Given the description of an element on the screen output the (x, y) to click on. 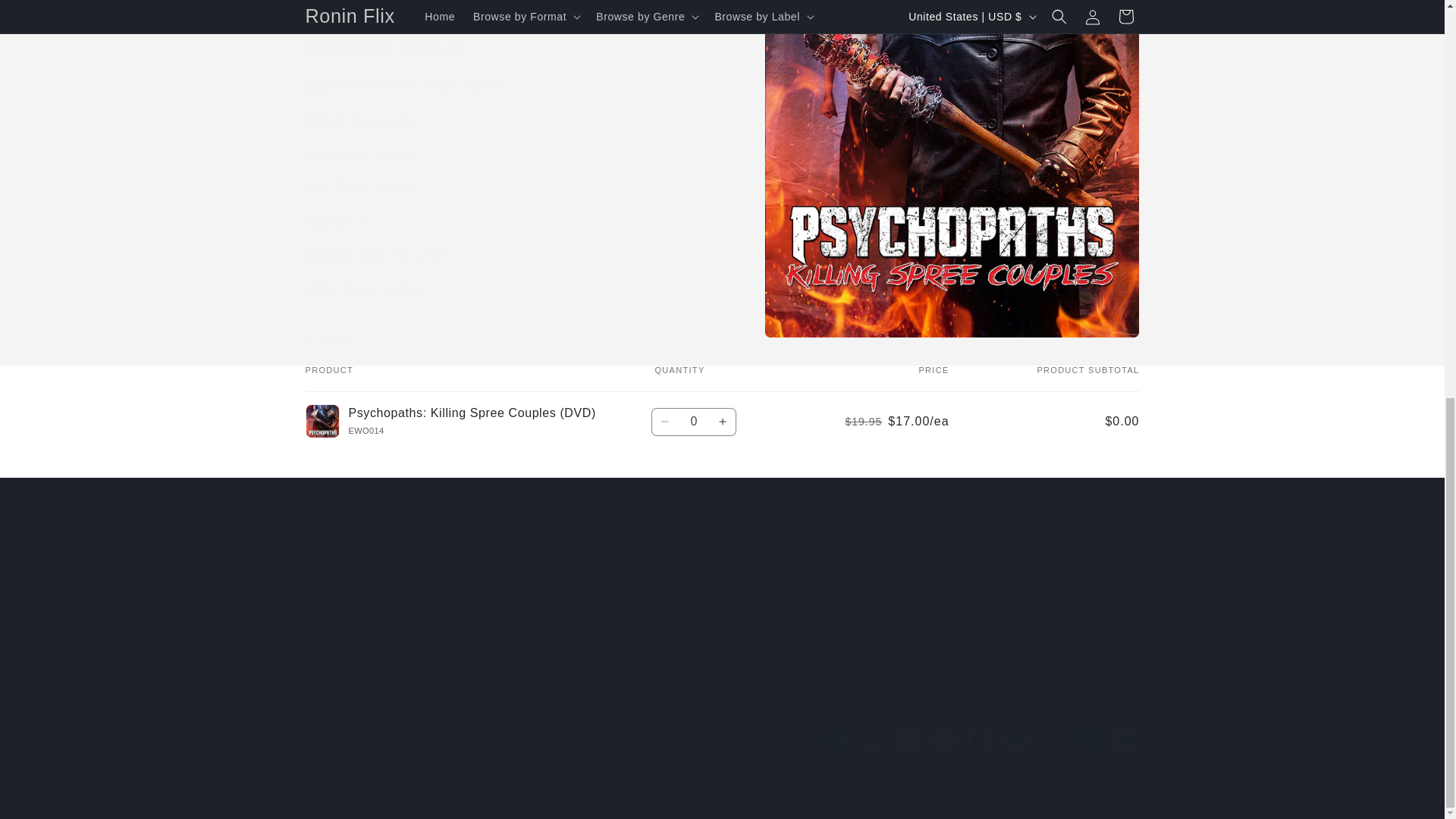
0 (693, 421)
